Given the description of an element on the screen output the (x, y) to click on. 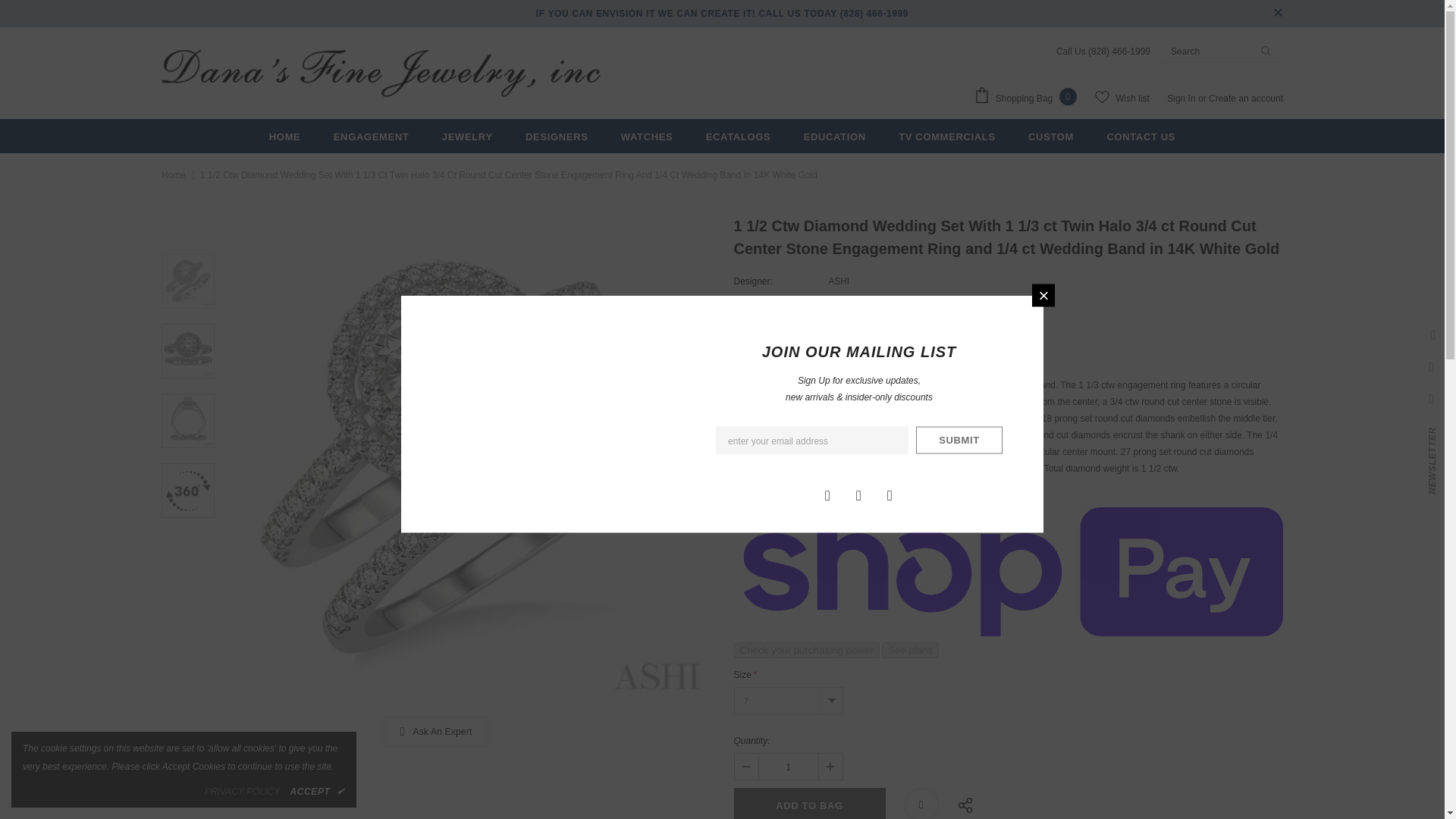
close (1277, 13)
1 (787, 766)
Submit (959, 439)
Add to Bag (809, 803)
